Given the description of an element on the screen output the (x, y) to click on. 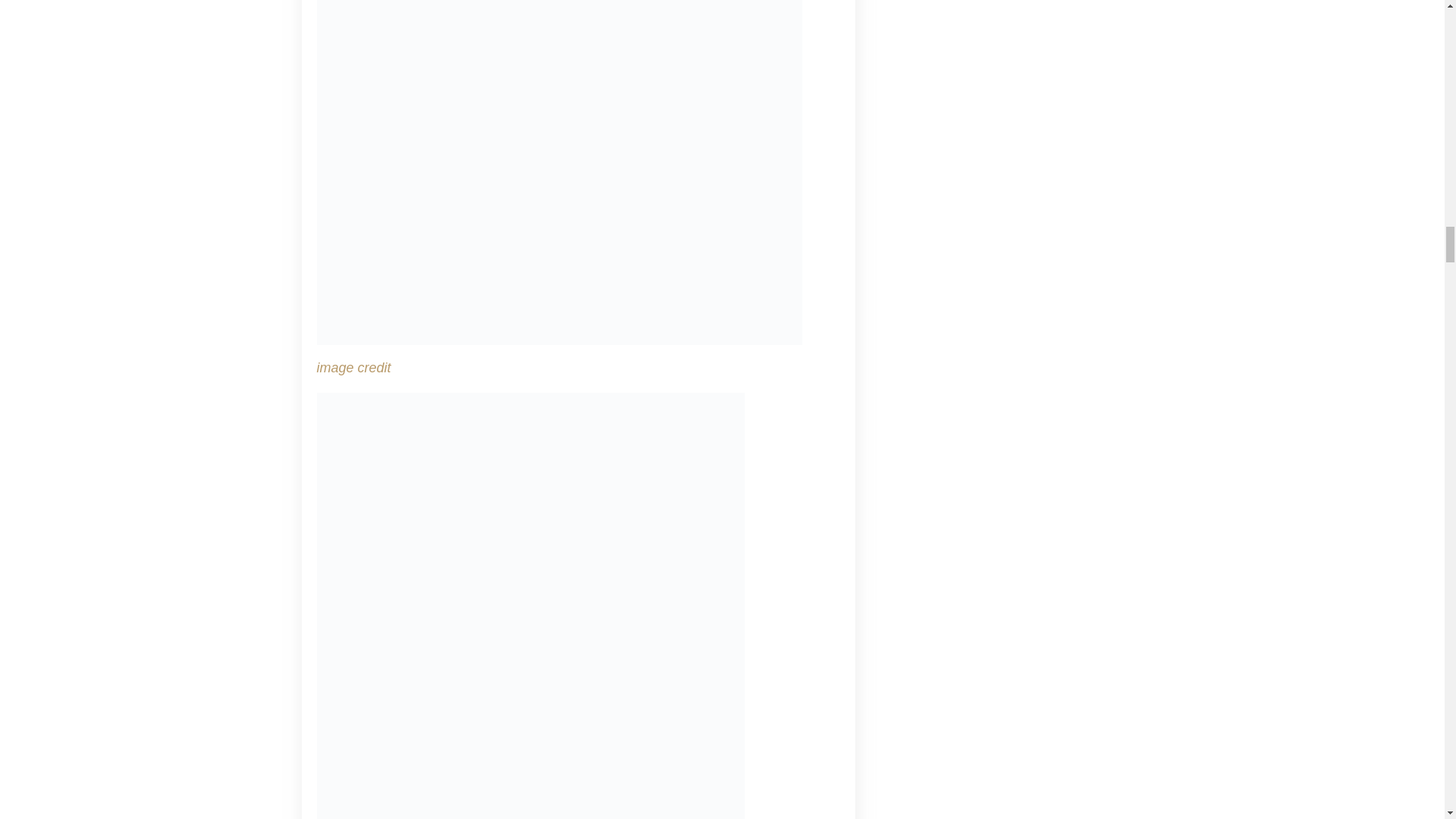
image credit (354, 367)
